Given the description of an element on the screen output the (x, y) to click on. 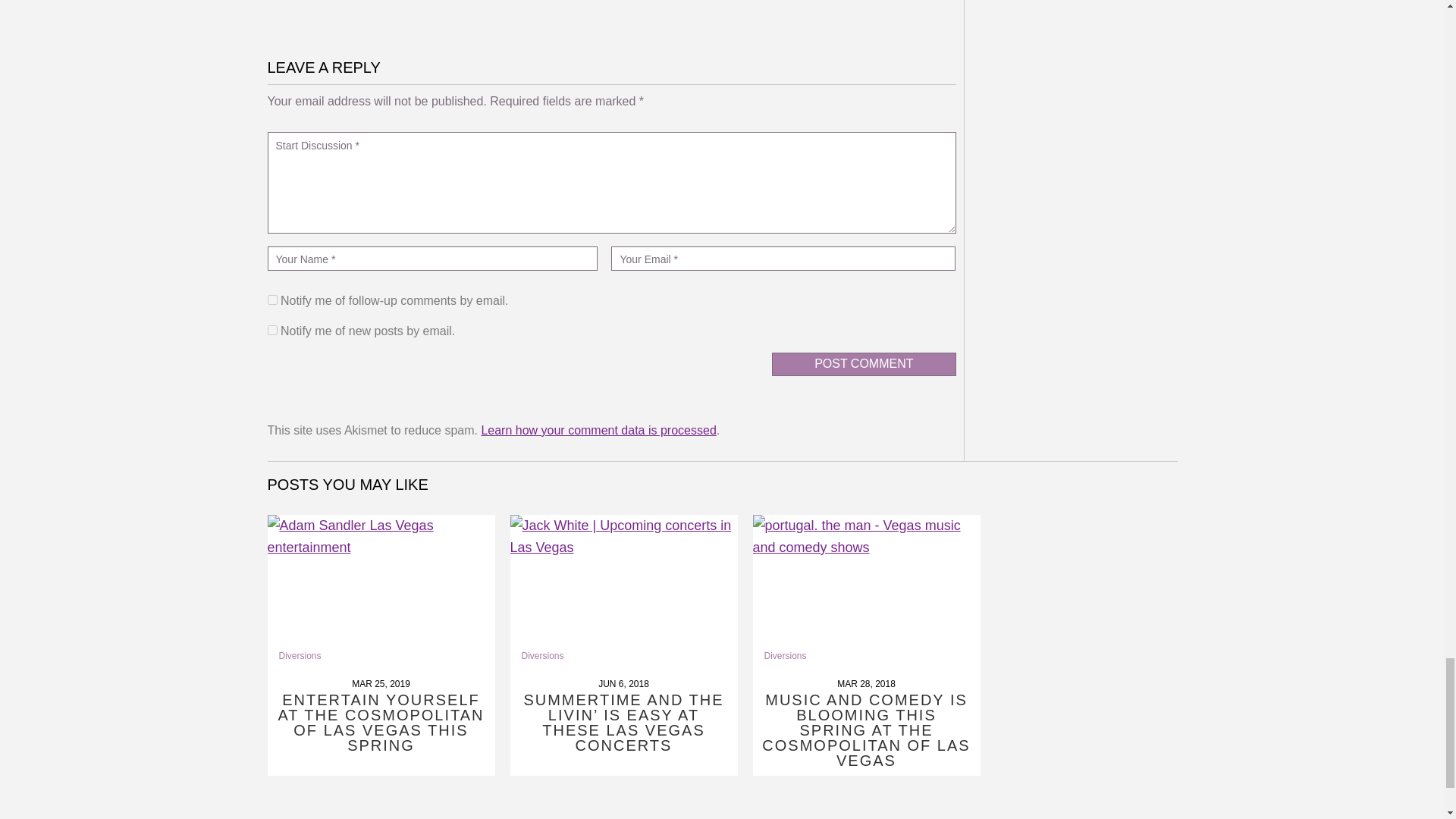
subscribe (271, 329)
Learn how your comment data is processed (598, 430)
Post Comment (863, 363)
Post Comment (863, 363)
subscribe (271, 299)
